Given the description of an element on the screen output the (x, y) to click on. 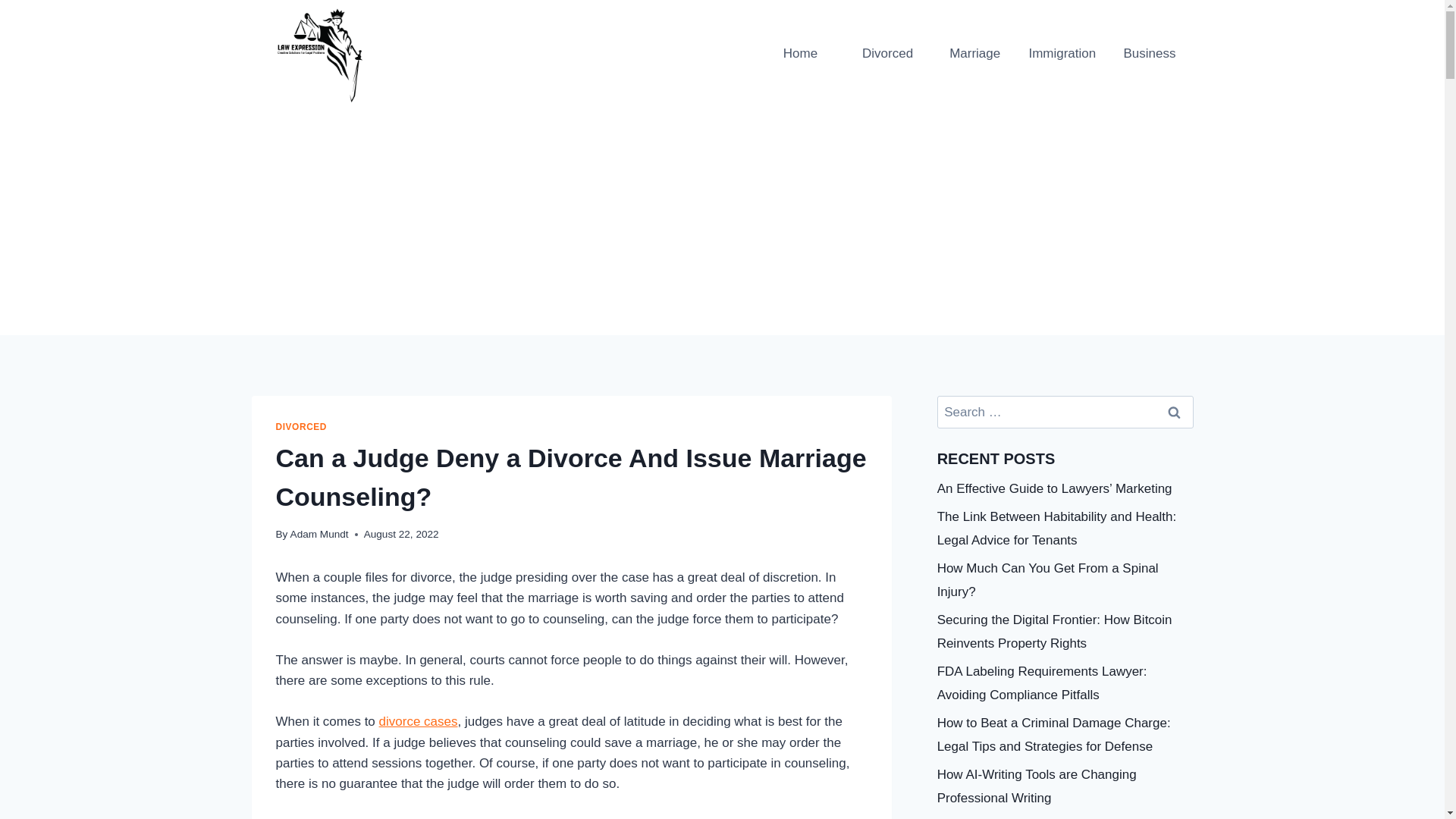
Adam Mundt (319, 533)
Divorced (887, 54)
divorce cases (418, 721)
Business (1148, 54)
Marriage (974, 54)
Search (1174, 411)
Immigration (1061, 54)
Search (1174, 411)
DIVORCED (301, 426)
Home (800, 54)
